Given the description of an element on the screen output the (x, y) to click on. 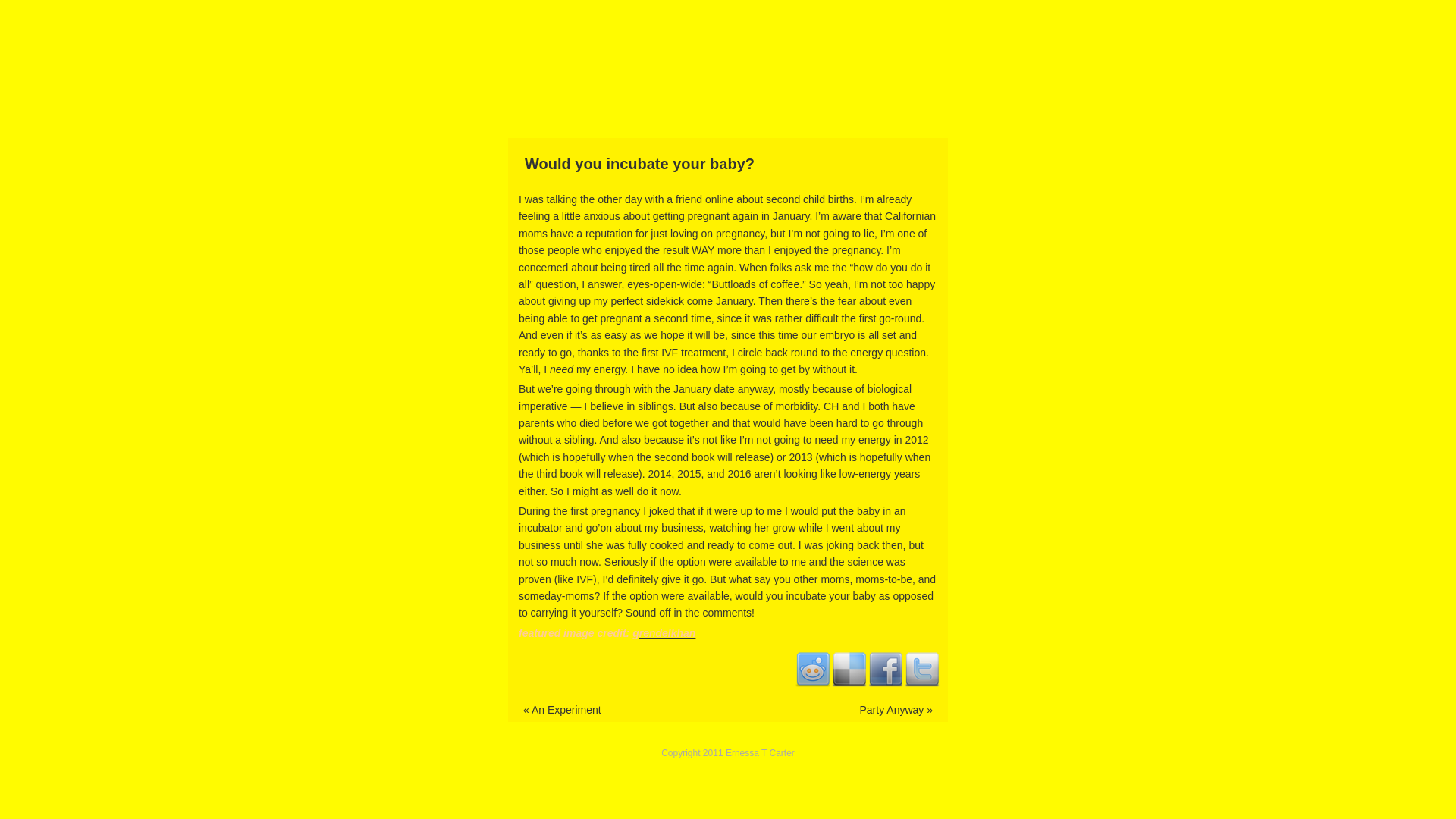
Del.icio.us (849, 668)
32 CANDLES (727, 102)
Would you incubate your baby? (727, 163)
Reddit (812, 668)
Twitter (922, 668)
Facebook (885, 668)
grendelkhan (663, 633)
